Given the description of an element on the screen output the (x, y) to click on. 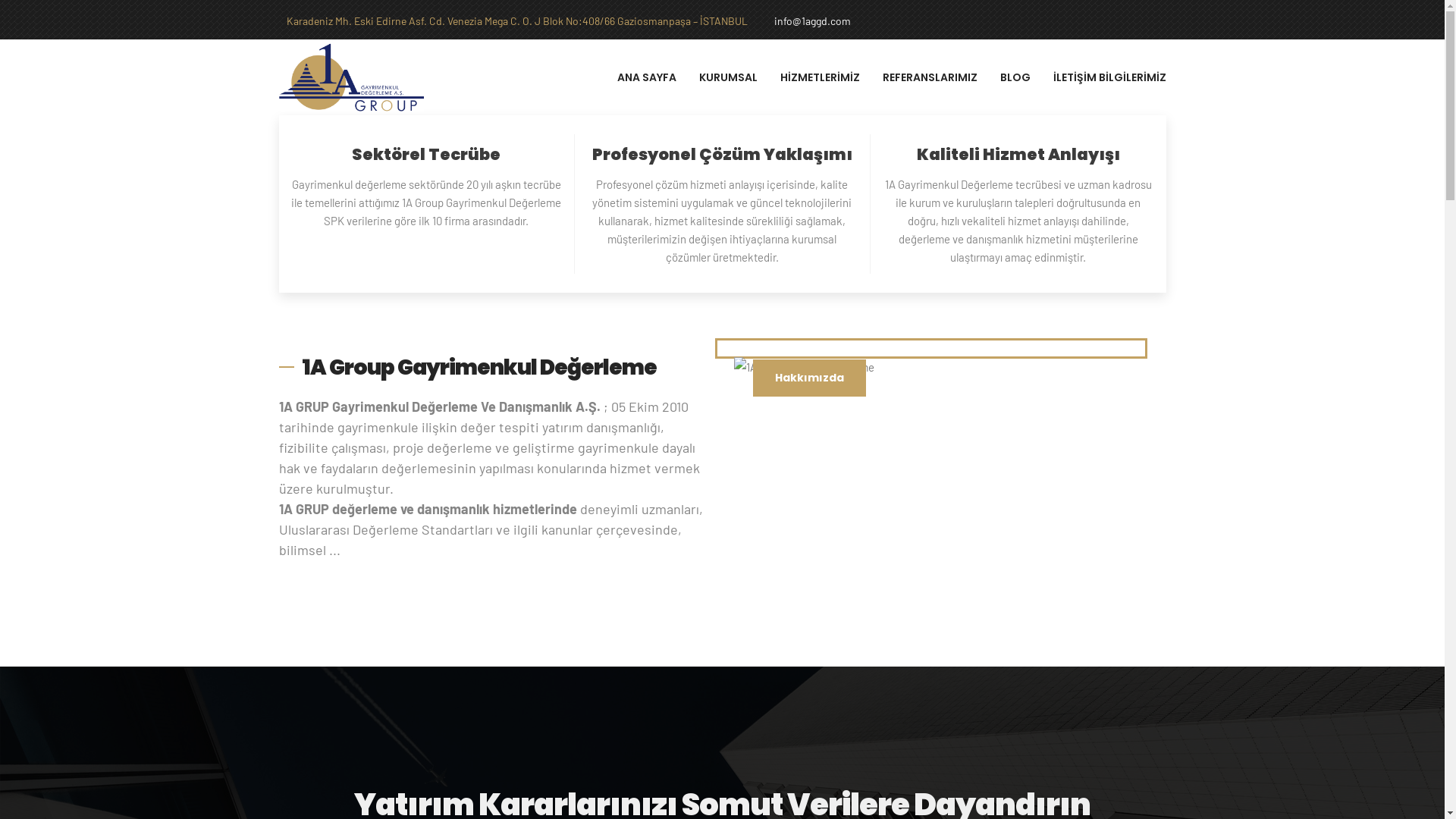
ANA SAYFA Element type: text (646, 76)
BLOG Element type: text (1014, 76)
KURUMSAL Element type: text (728, 76)
info@1aggd.com Element type: text (807, 20)
REFERANSLARIMIZ Element type: text (929, 76)
